Given the description of an element on the screen output the (x, y) to click on. 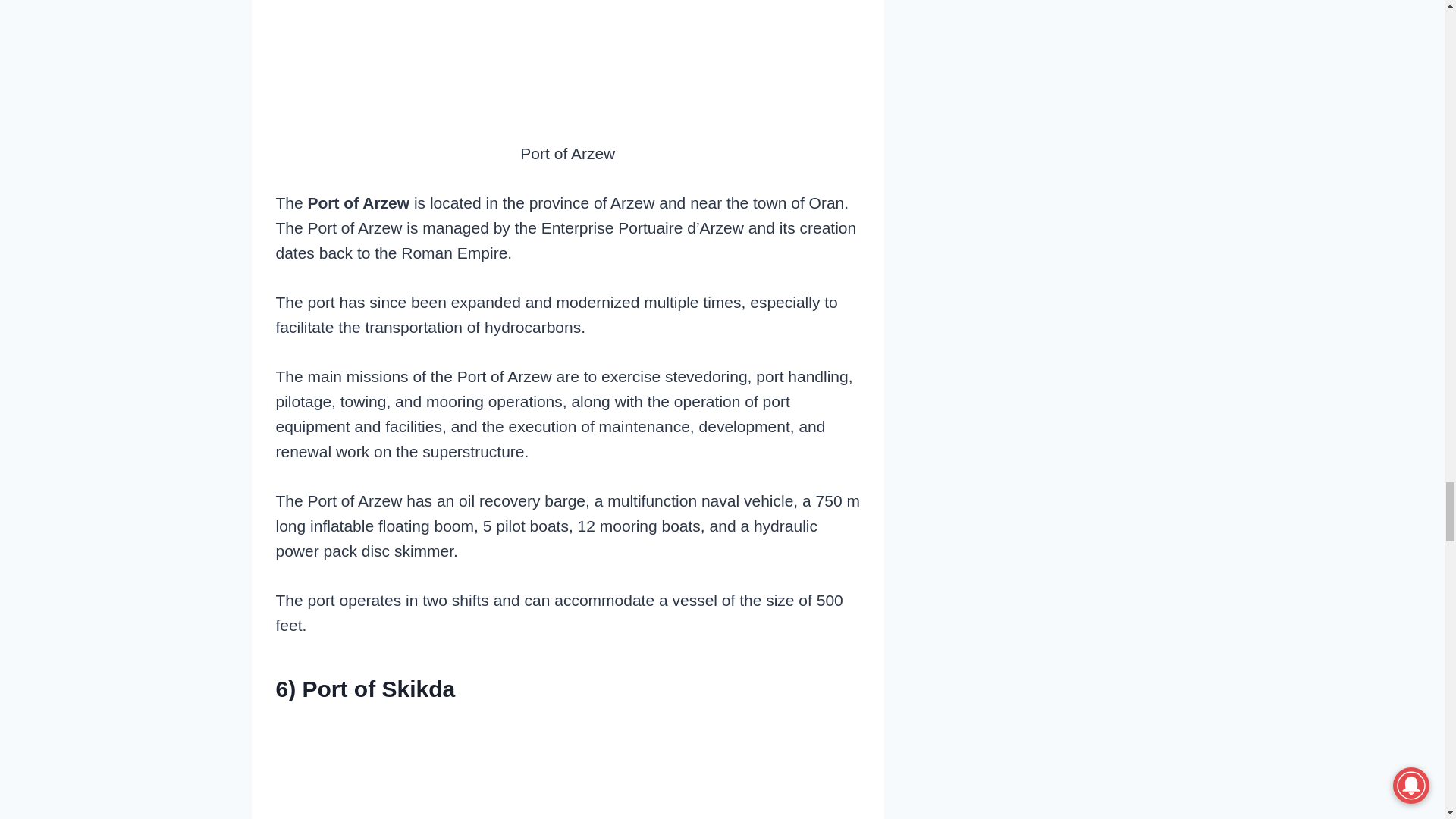
6 Major Ports in Algeria 7 (567, 768)
6 Major Ports in Algeria 6 (567, 63)
